Given the description of an element on the screen output the (x, y) to click on. 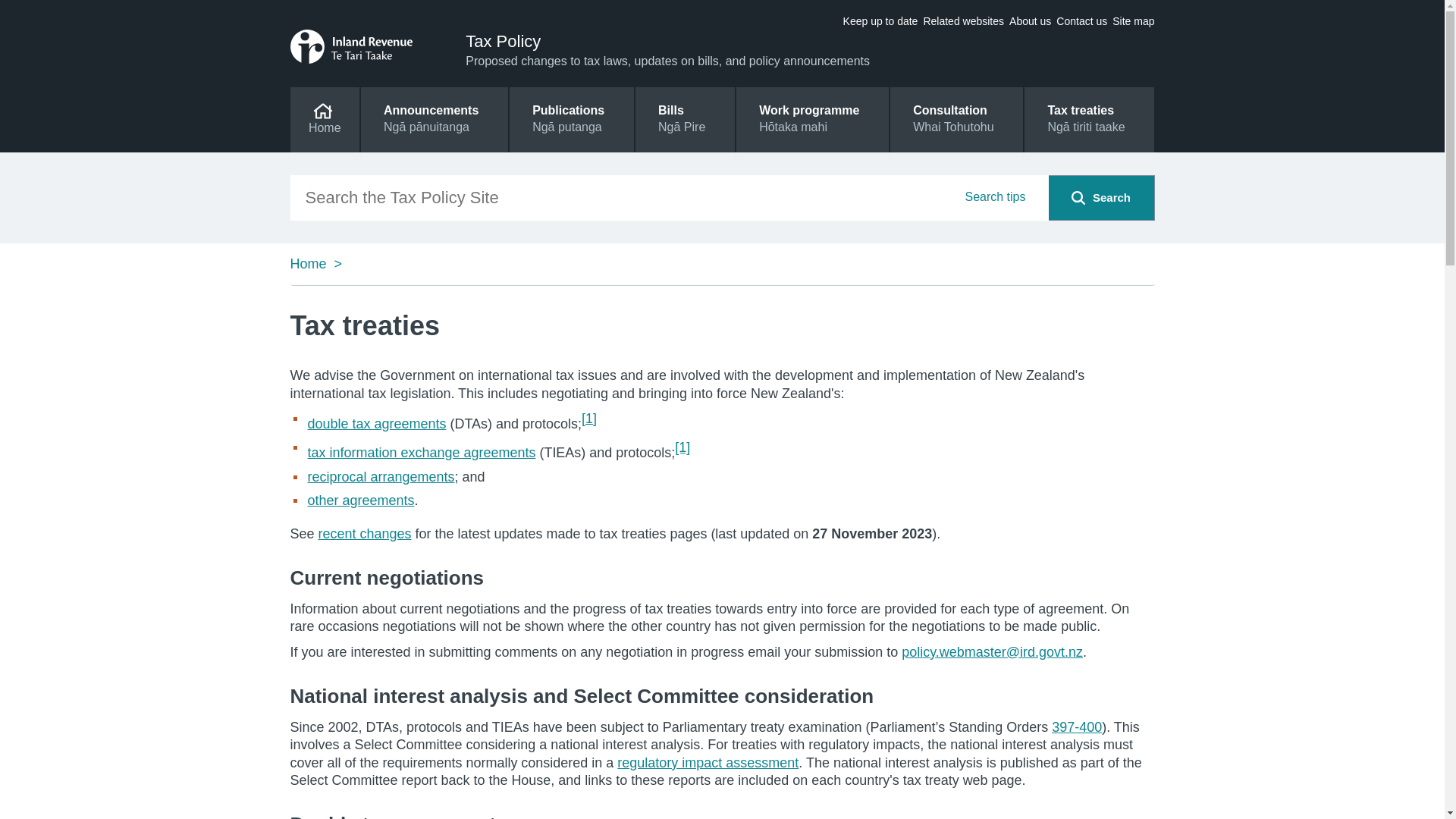
Search (1077, 197)
Contact us (1081, 21)
About us (1030, 21)
Search tips (994, 215)
Tax Policy (502, 40)
Keep up to date (880, 21)
Site map (1133, 21)
397-400 (1076, 726)
Keep up to date (880, 21)
About us (1030, 21)
